Given the description of an element on the screen output the (x, y) to click on. 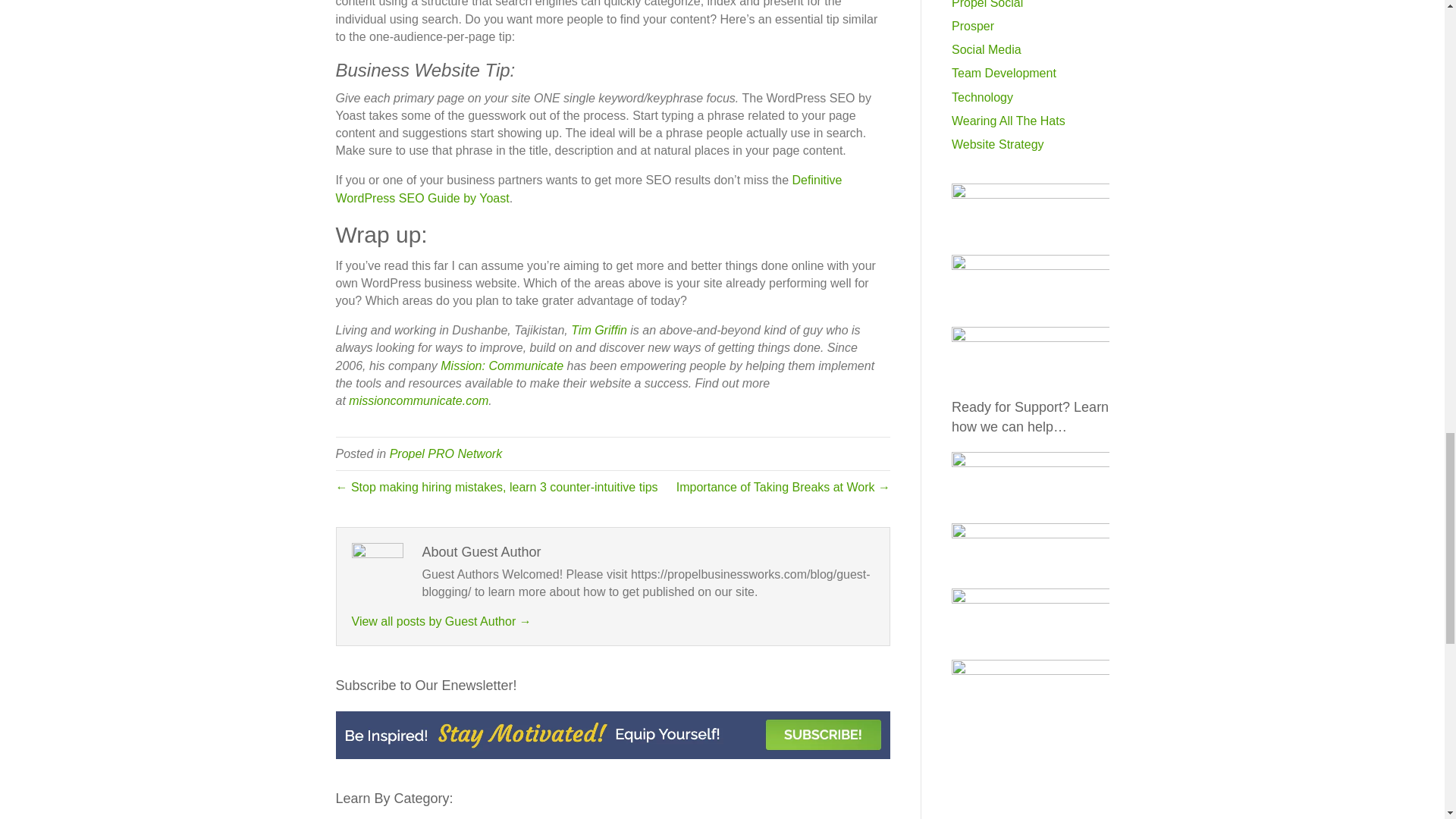
Propel PRO Network (446, 453)
missioncommunicate.com (418, 400)
Tim Griffin (598, 329)
Mission: Communicate (502, 365)
Definitive WordPress SEO Guide by Yoast (587, 188)
